Given the description of an element on the screen output the (x, y) to click on. 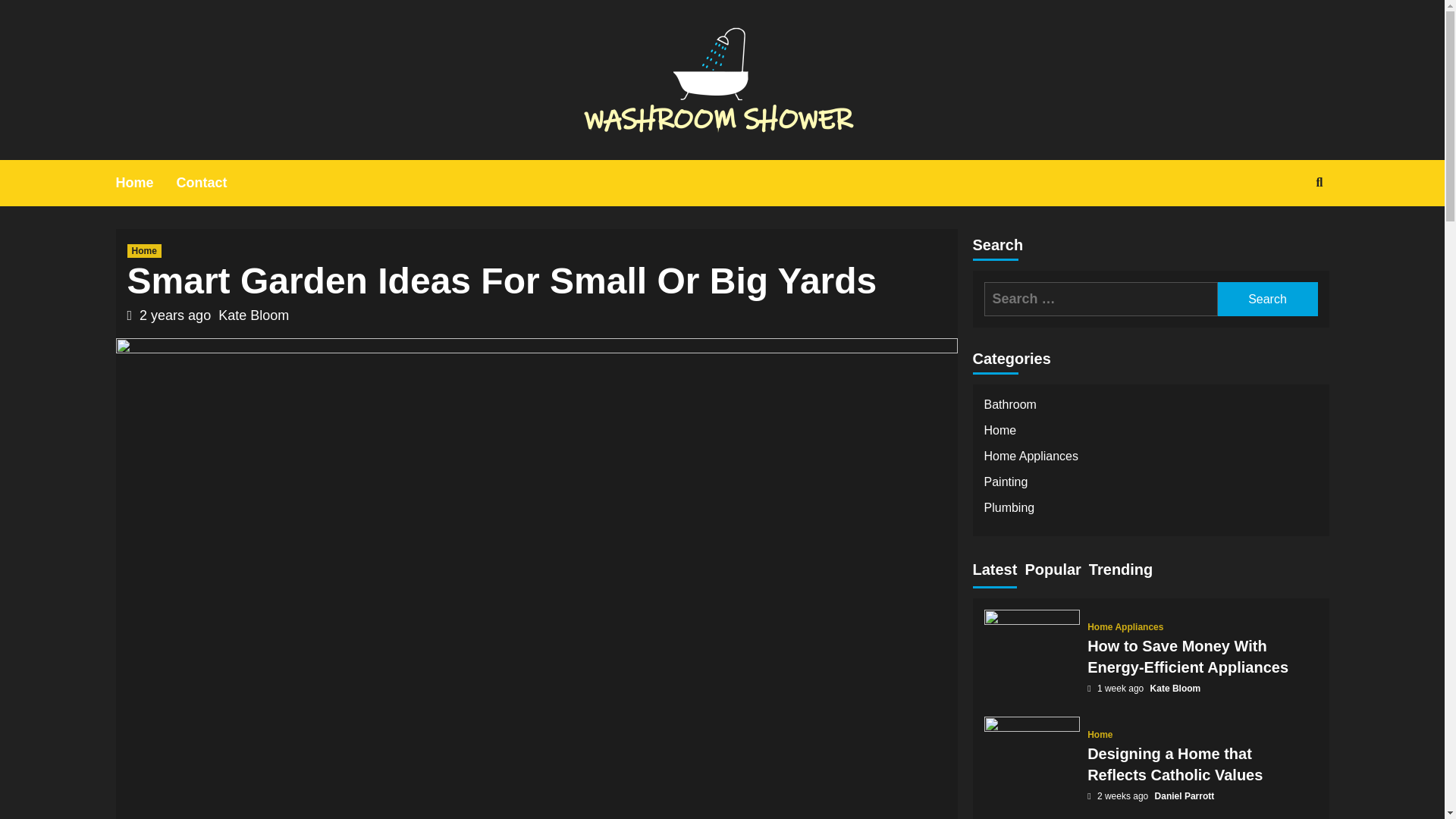
Kate Bloom (253, 314)
Trending (1121, 571)
Home Appliances (1150, 460)
Latest (994, 571)
Home (1150, 434)
Painting (1150, 485)
Home (144, 250)
Home (145, 182)
Bathroom (1150, 408)
Search (1267, 298)
